Given the description of an element on the screen output the (x, y) to click on. 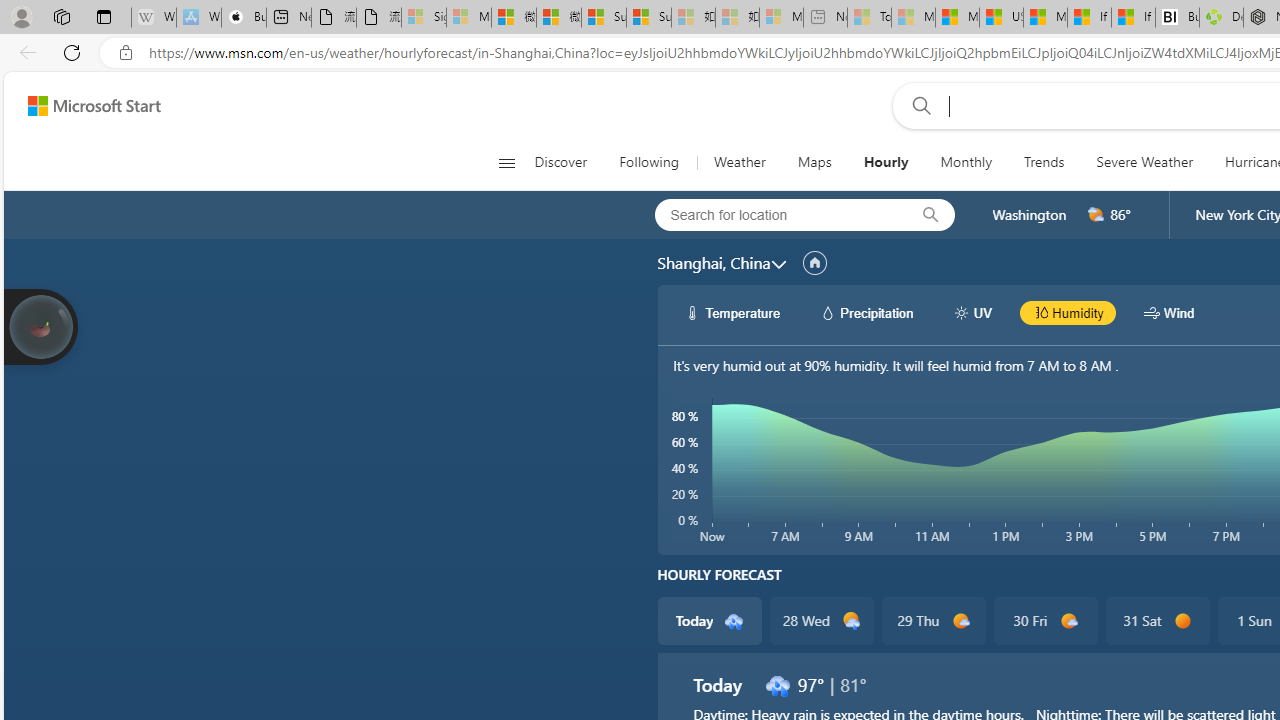
locationName/setHomeLocation (813, 263)
Severe Weather (1144, 162)
Descarga Driver Updater (1220, 17)
31 Sat d0000 (1156, 620)
d0000 (1181, 621)
hourlyChart/precipitationWhite Precipitation (866, 312)
Sign in to your Microsoft account - Sleeping (423, 17)
hourlyChart/humidityBlack (1040, 312)
Maps (814, 162)
Microsoft Services Agreement - Sleeping (468, 17)
locationName/setHomeLocation (814, 263)
hourlyChart/precipitationWhite (828, 312)
